Given the description of an element on the screen output the (x, y) to click on. 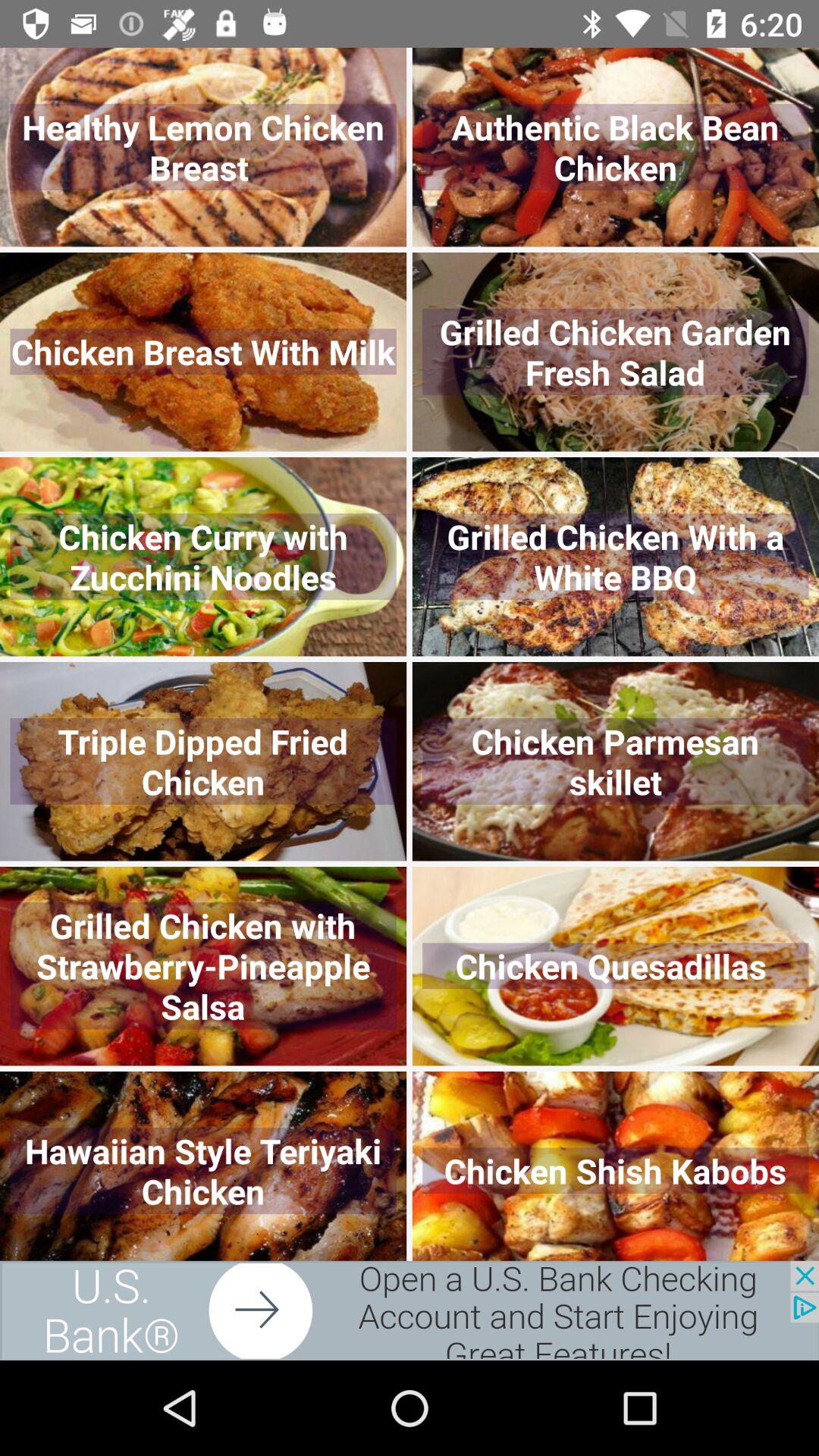
go to next (409, 1310)
